Given the description of an element on the screen output the (x, y) to click on. 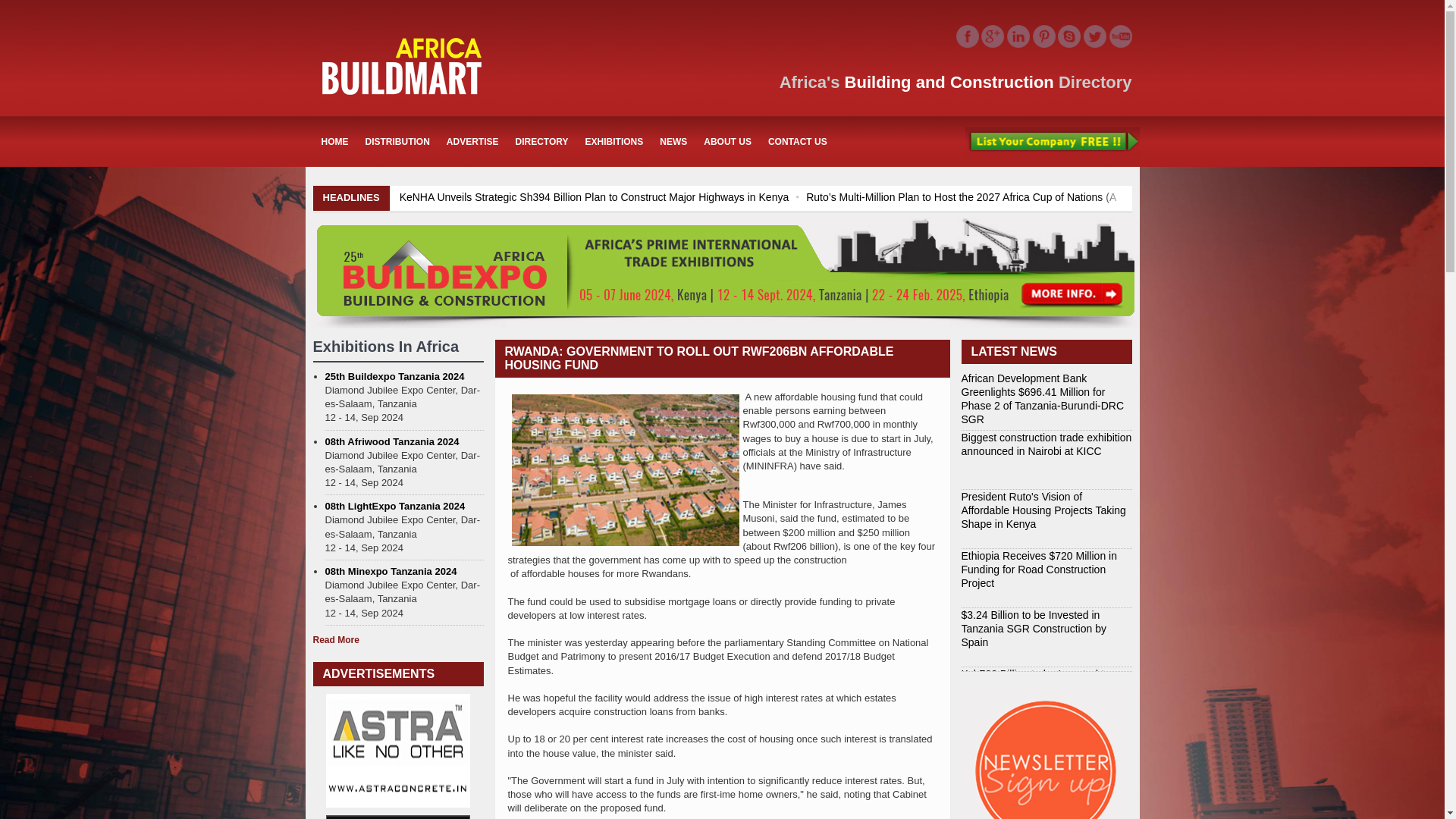
DISTRIBUTION (397, 141)
List Your Company Free (1050, 142)
HOME (334, 141)
ABOUT US (727, 141)
NEWS (672, 141)
EXHIBITIONS (614, 141)
CONTACT US (797, 141)
DIRECTORY (541, 141)
ADVERTISE (472, 141)
